Given the description of an element on the screen output the (x, y) to click on. 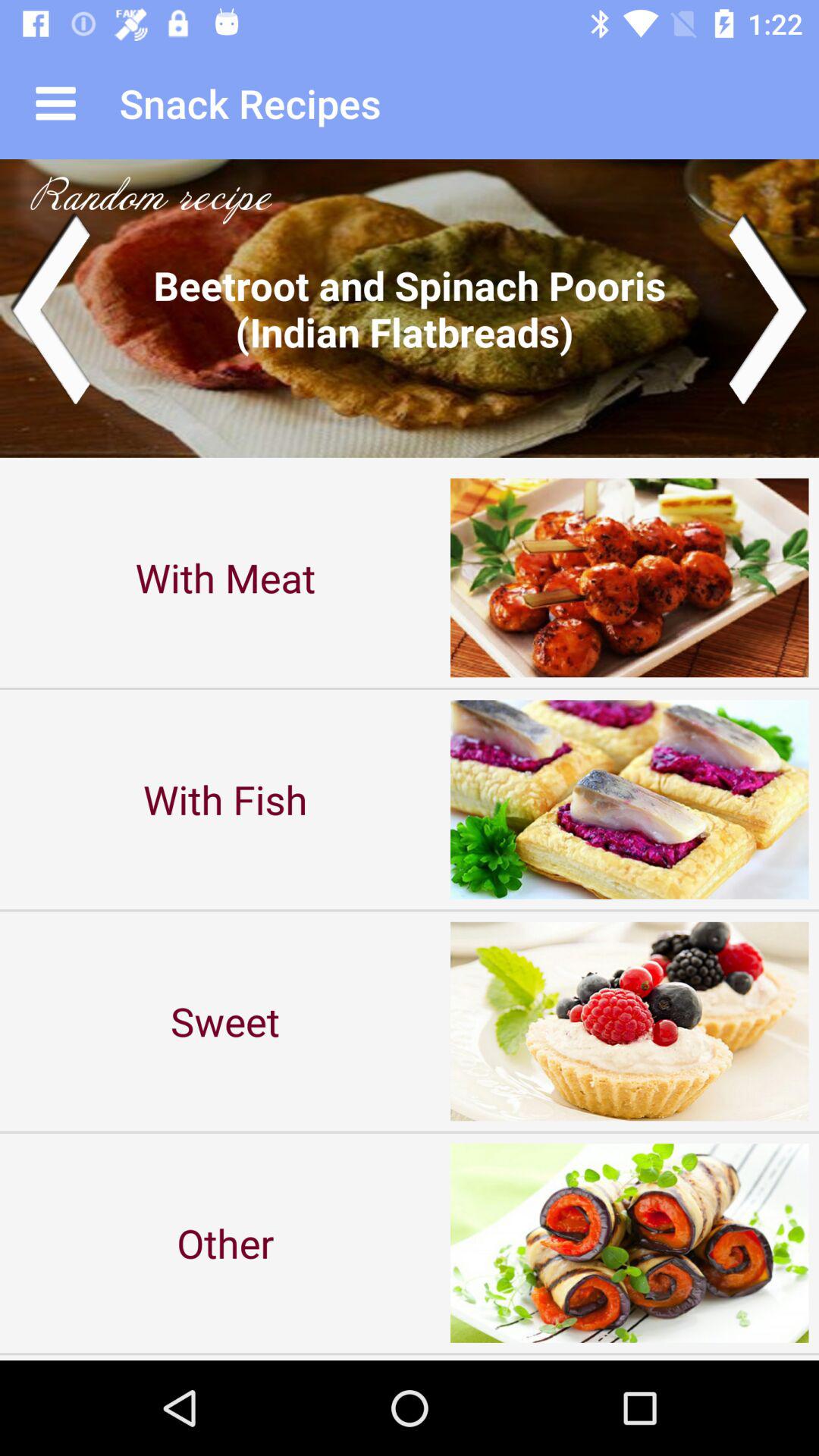
view recipe (409, 308)
